Given the description of an element on the screen output the (x, y) to click on. 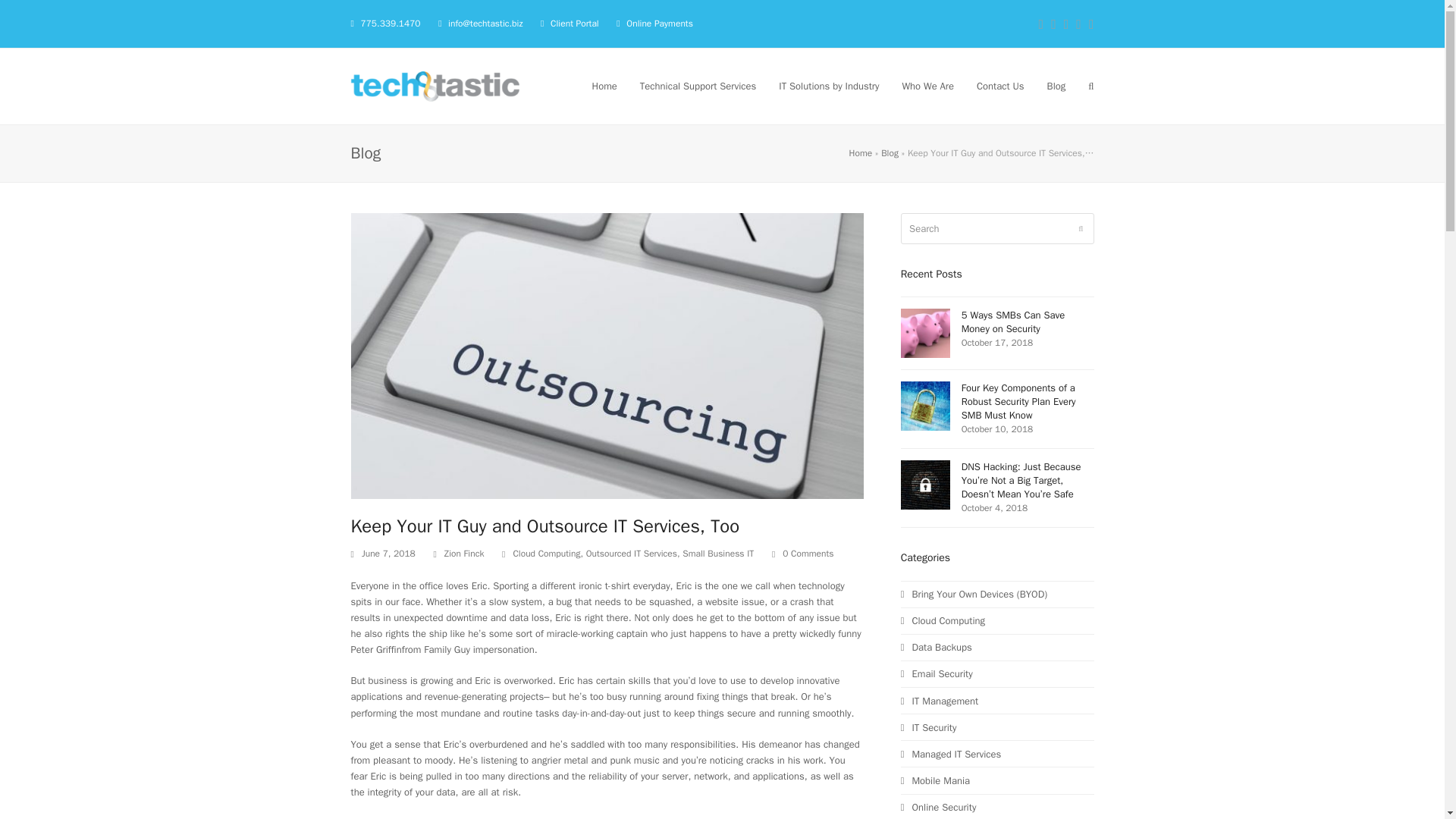
Small Business IT (718, 553)
Online Payments (659, 23)
Who We Are (927, 86)
Blog (889, 152)
Client Portal (574, 23)
Technical Support Services (697, 86)
Home (860, 152)
Zion Finck (464, 553)
Cloud Computing (545, 553)
0 Comments (807, 554)
